Given the description of an element on the screen output the (x, y) to click on. 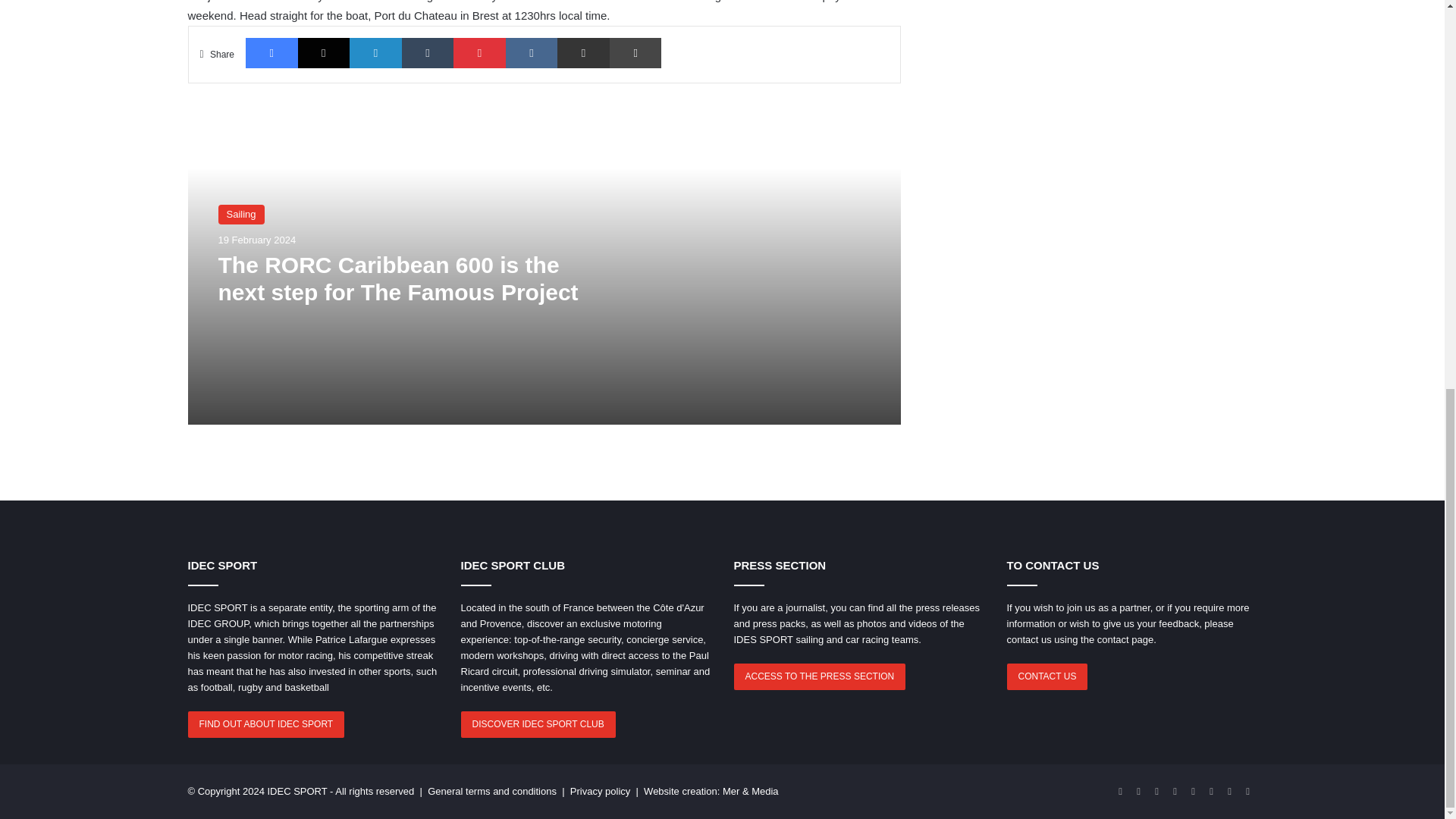
Facebook (272, 52)
Pinterest (478, 52)
LinkedIn (375, 52)
Tumblr (427, 52)
X (324, 52)
Share via Email (583, 52)
Print (636, 52)
VKontakte (531, 52)
